Given the description of an element on the screen output the (x, y) to click on. 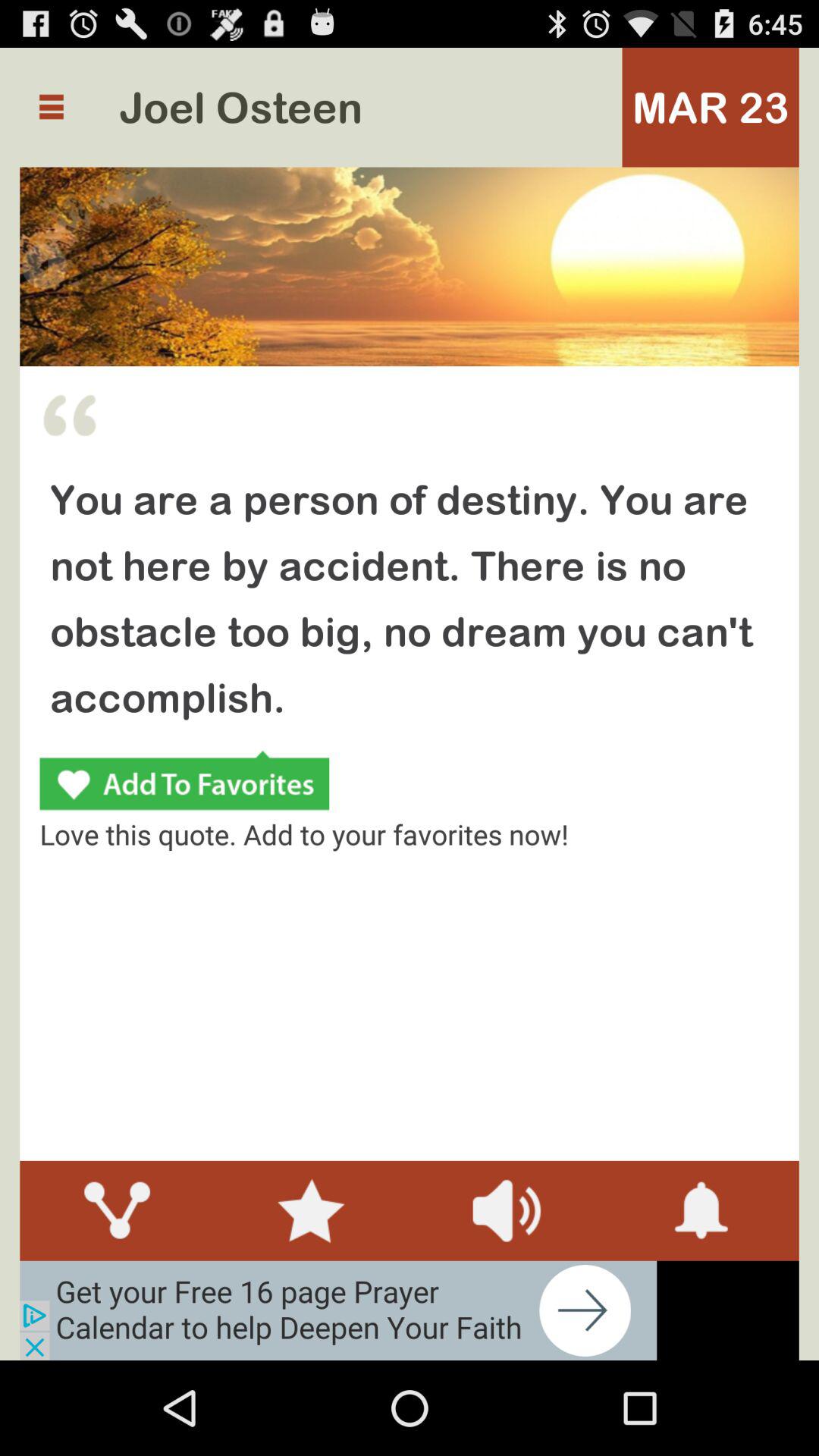
add to favorites (184, 782)
